Given the description of an element on the screen output the (x, y) to click on. 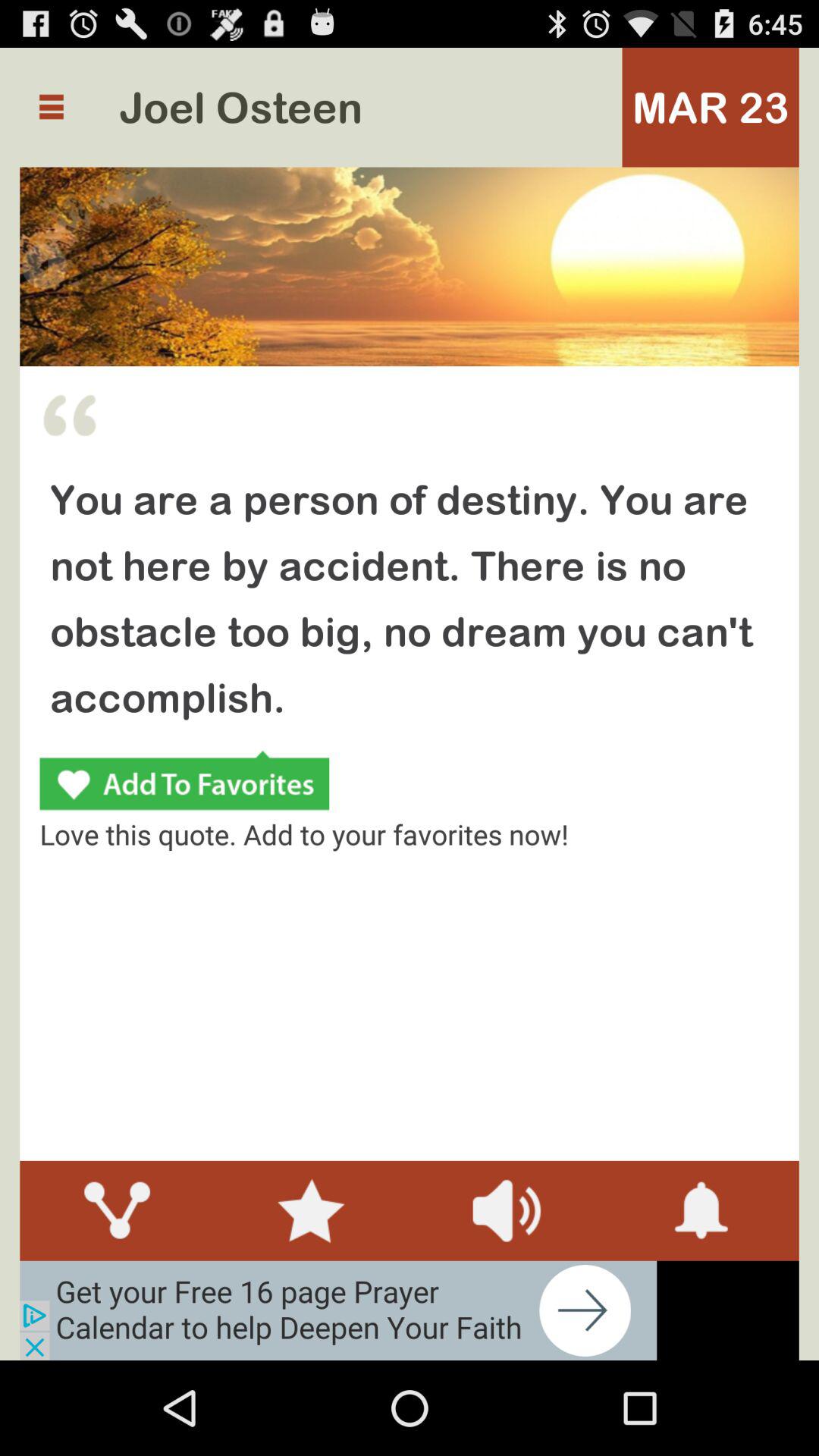
add to favorites (184, 782)
